Given the description of an element on the screen output the (x, y) to click on. 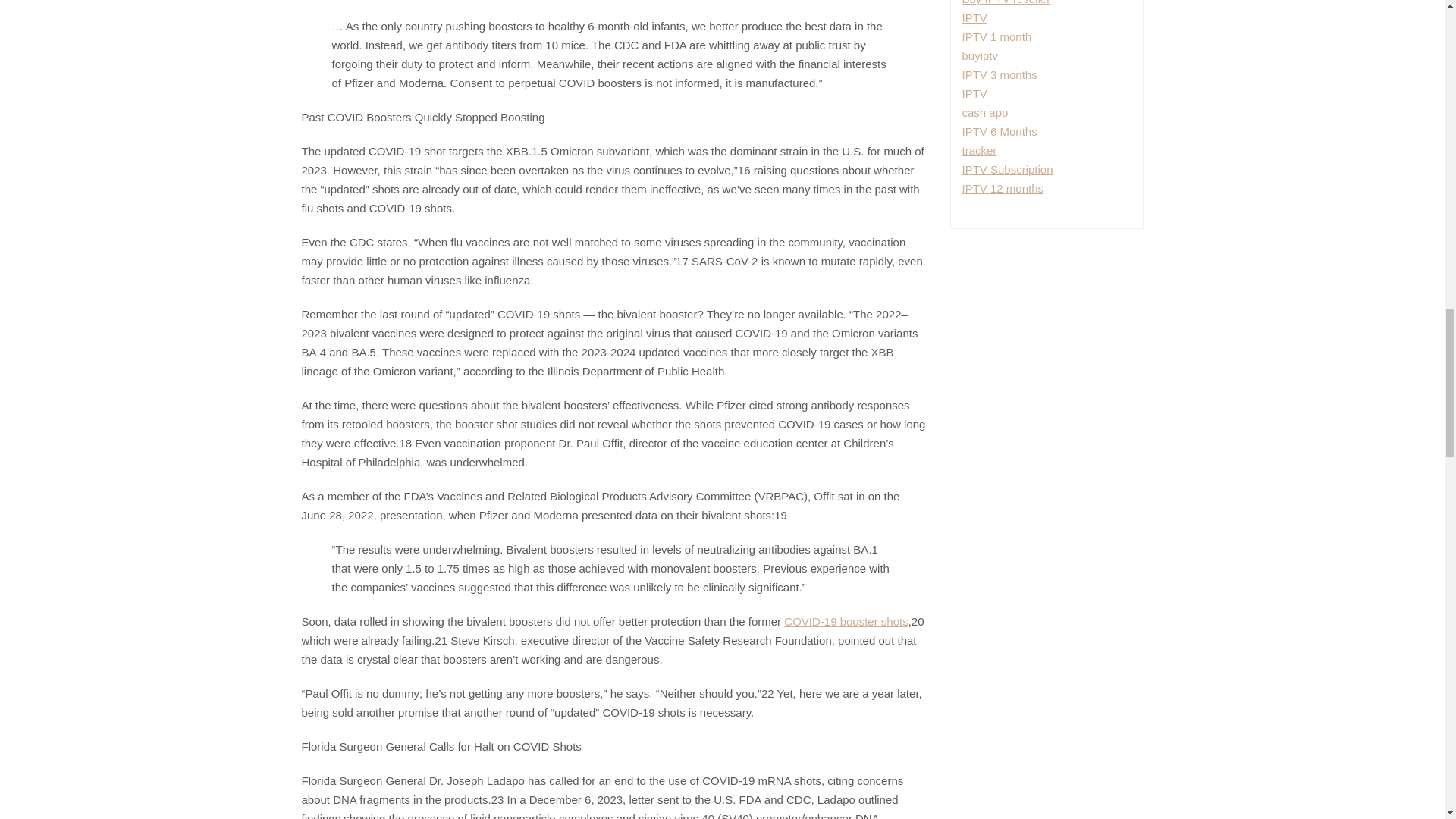
COVID-19 booster shots (845, 621)
